Given the description of an element on the screen output the (x, y) to click on. 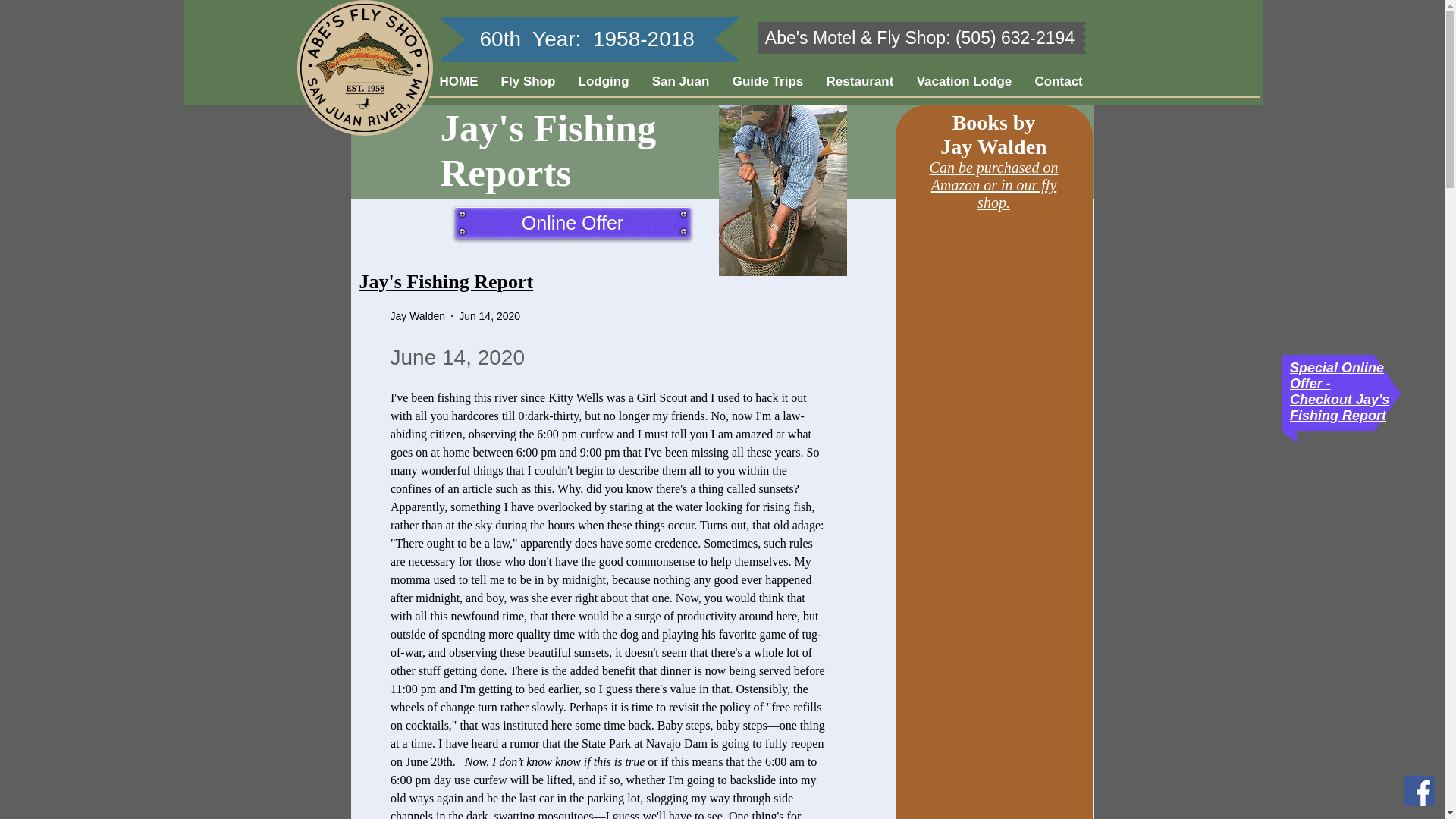
Jun 14, 2020 (488, 315)
Vacation Lodge (964, 81)
Jay Walden (417, 315)
Online Offer (572, 223)
HOME (458, 81)
60th  Year:  1958-2018 (586, 38)
Lodging (603, 81)
Guide Trips (766, 81)
Restaurant (858, 81)
Fly Shop (528, 81)
Special Online Offer - Checkout Jay's Fishing Report (1339, 391)
